Given the description of an element on the screen output the (x, y) to click on. 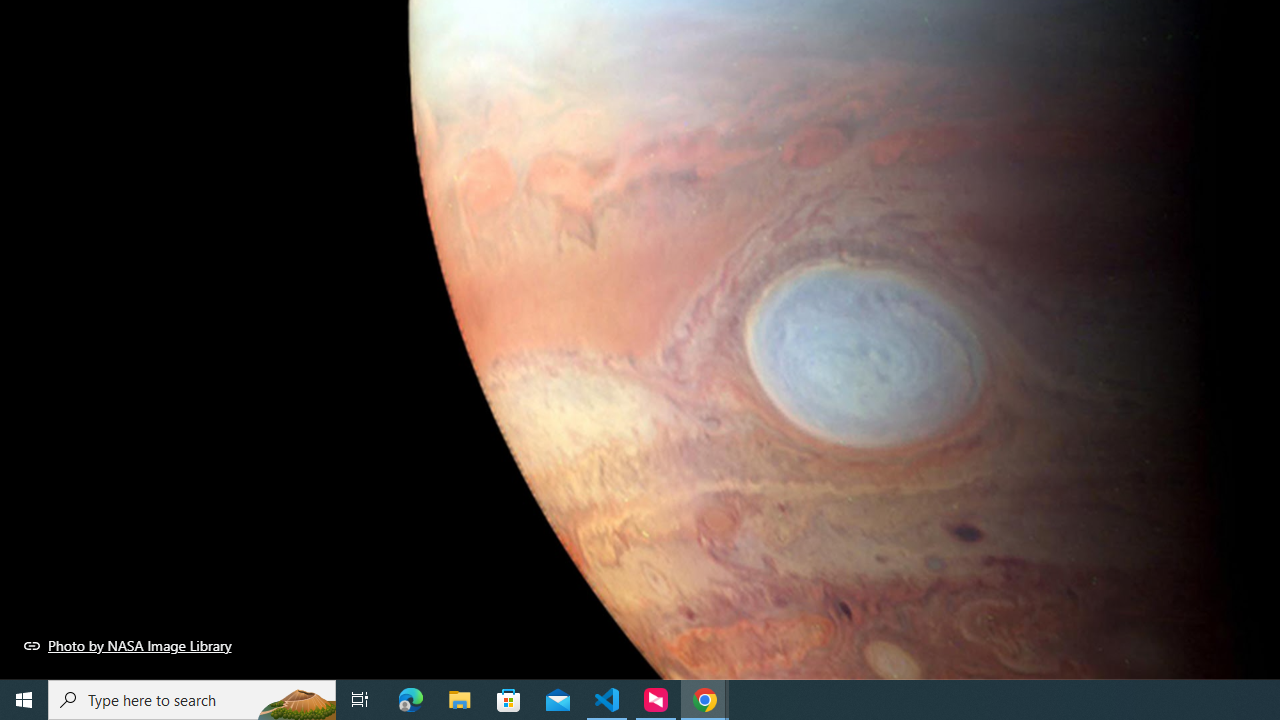
Photo by NASA Image Library (127, 645)
